Given the description of an element on the screen output the (x, y) to click on. 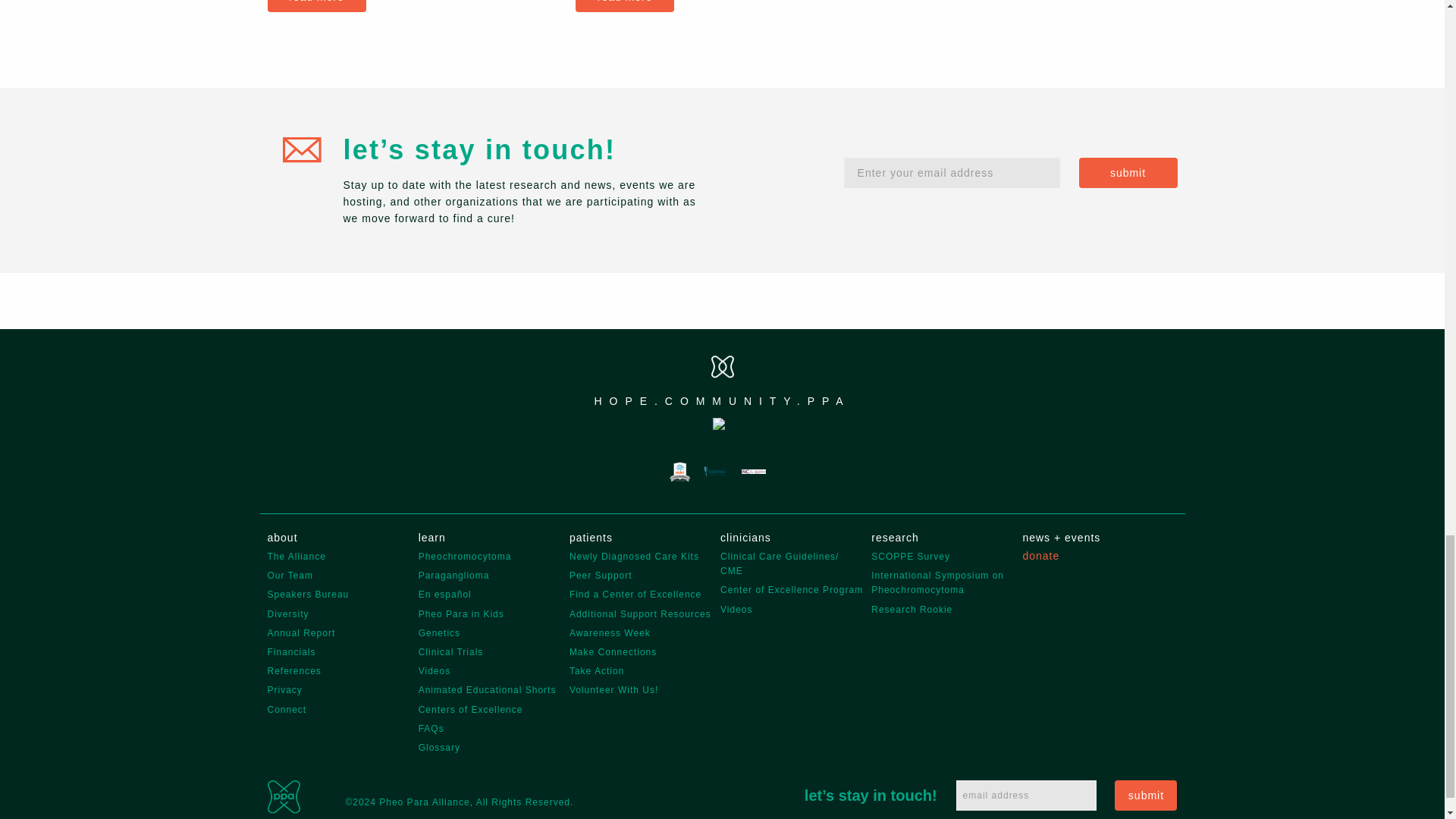
Submit (1145, 795)
Submit (1127, 173)
Pheo Para Alliance (282, 796)
